Given the description of an element on the screen output the (x, y) to click on. 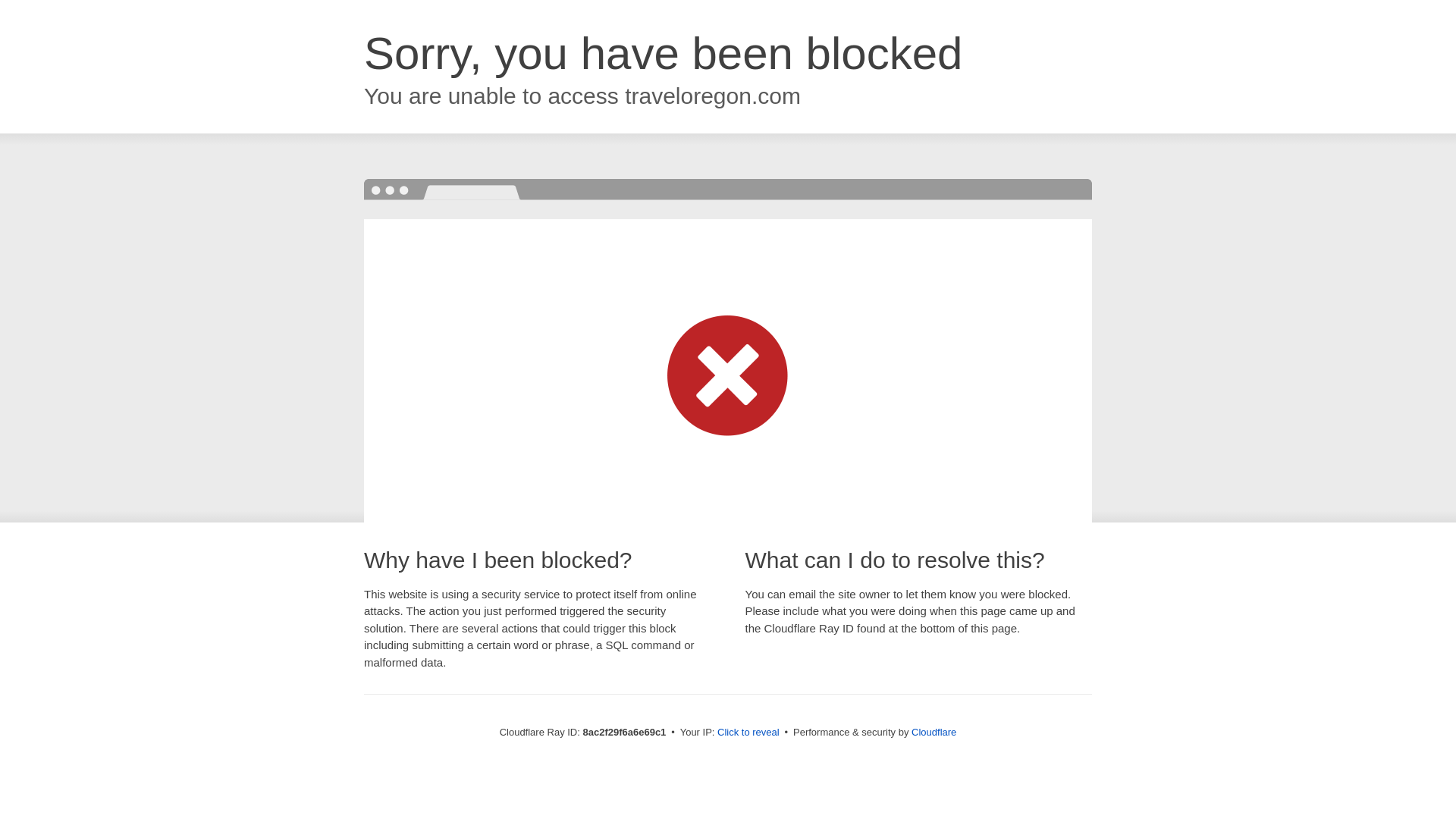
Click to reveal (747, 732)
Cloudflare (933, 731)
